Given the description of an element on the screen output the (x, y) to click on. 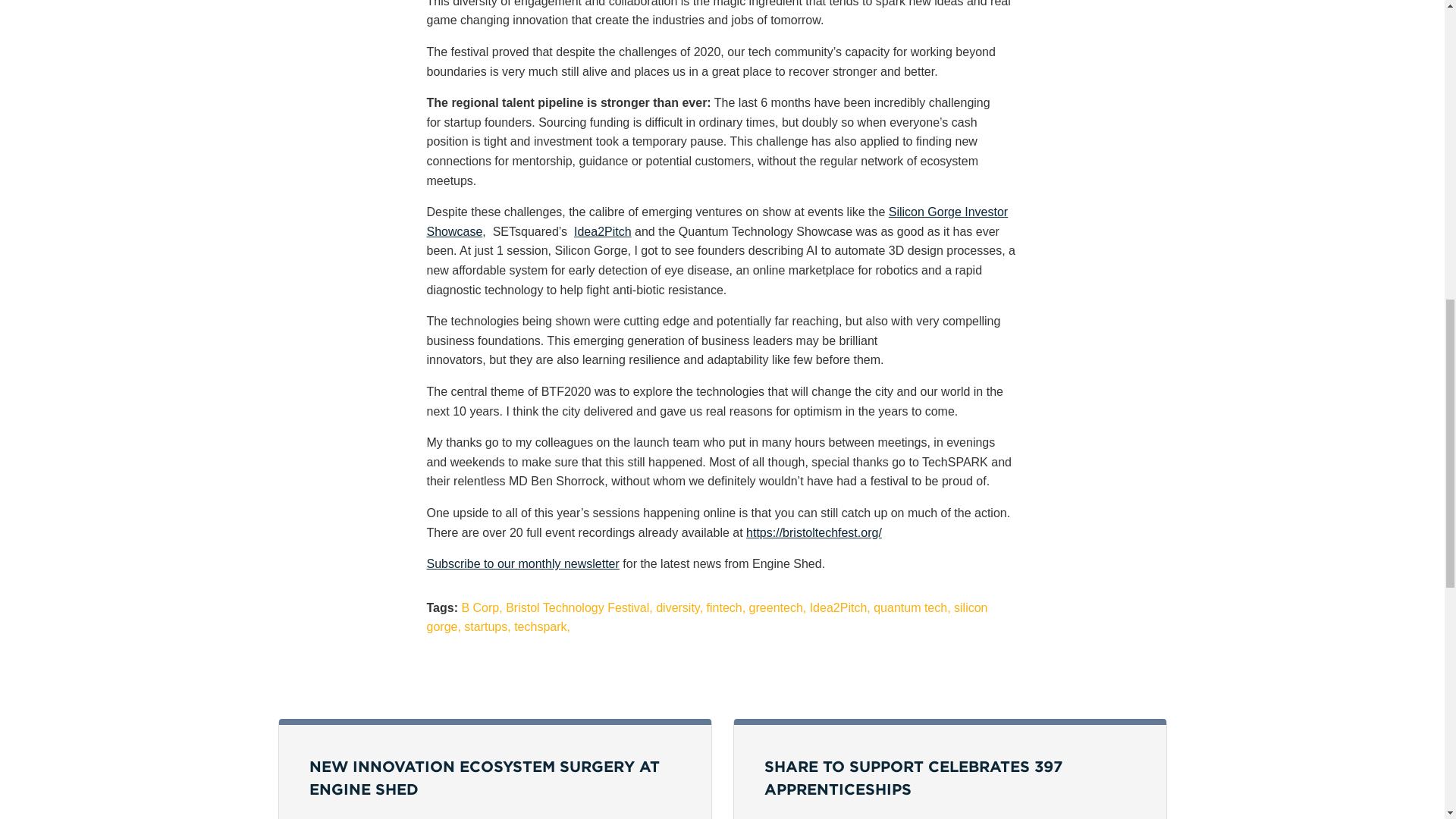
Idea2Pitch (602, 231)
greentech, (777, 607)
fintech, (725, 607)
diversity, (679, 607)
Idea2Pitch, (839, 607)
Bristol Technology Festival, (578, 607)
silicon gorge, (706, 617)
Subscribe to our monthly newsletter (522, 563)
B Corp, (481, 607)
quantum tech, (911, 607)
Silicon Gorge Investor Showcase (716, 221)
